Given the description of an element on the screen output the (x, y) to click on. 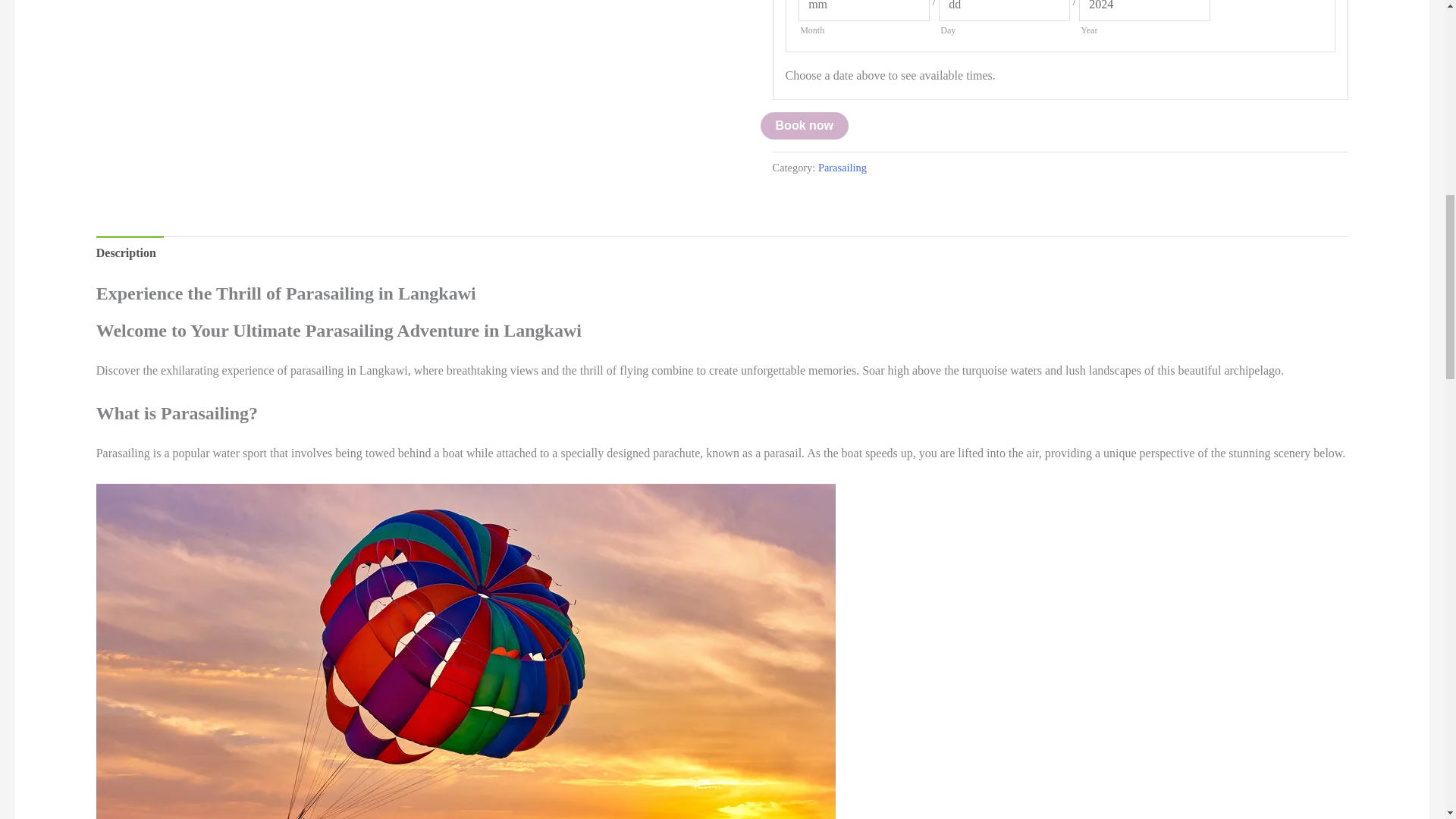
2024 (1143, 10)
